Given the description of an element on the screen output the (x, y) to click on. 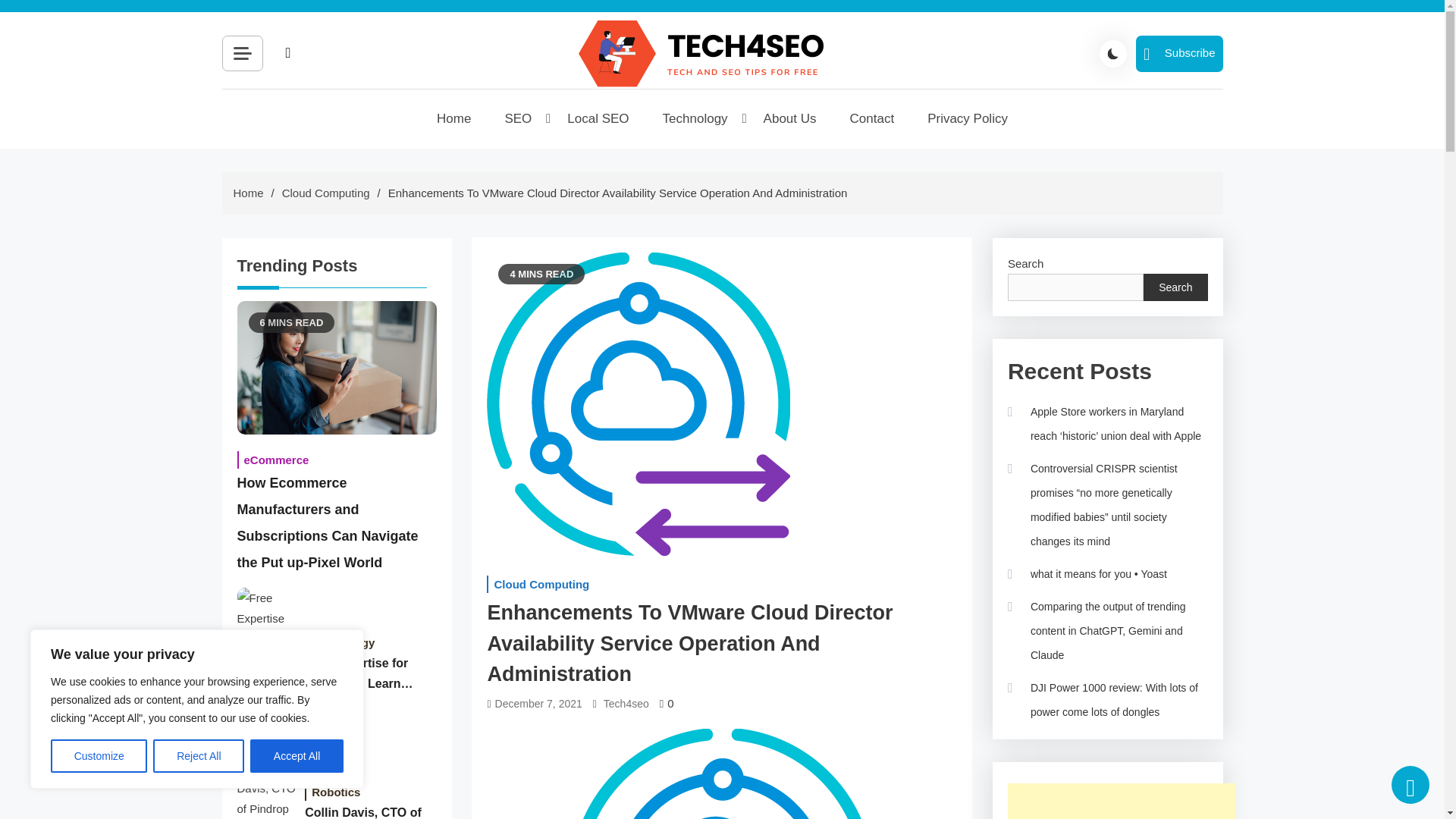
Customize (98, 756)
Accept All (296, 756)
Reject All (198, 756)
